Given the description of an element on the screen output the (x, y) to click on. 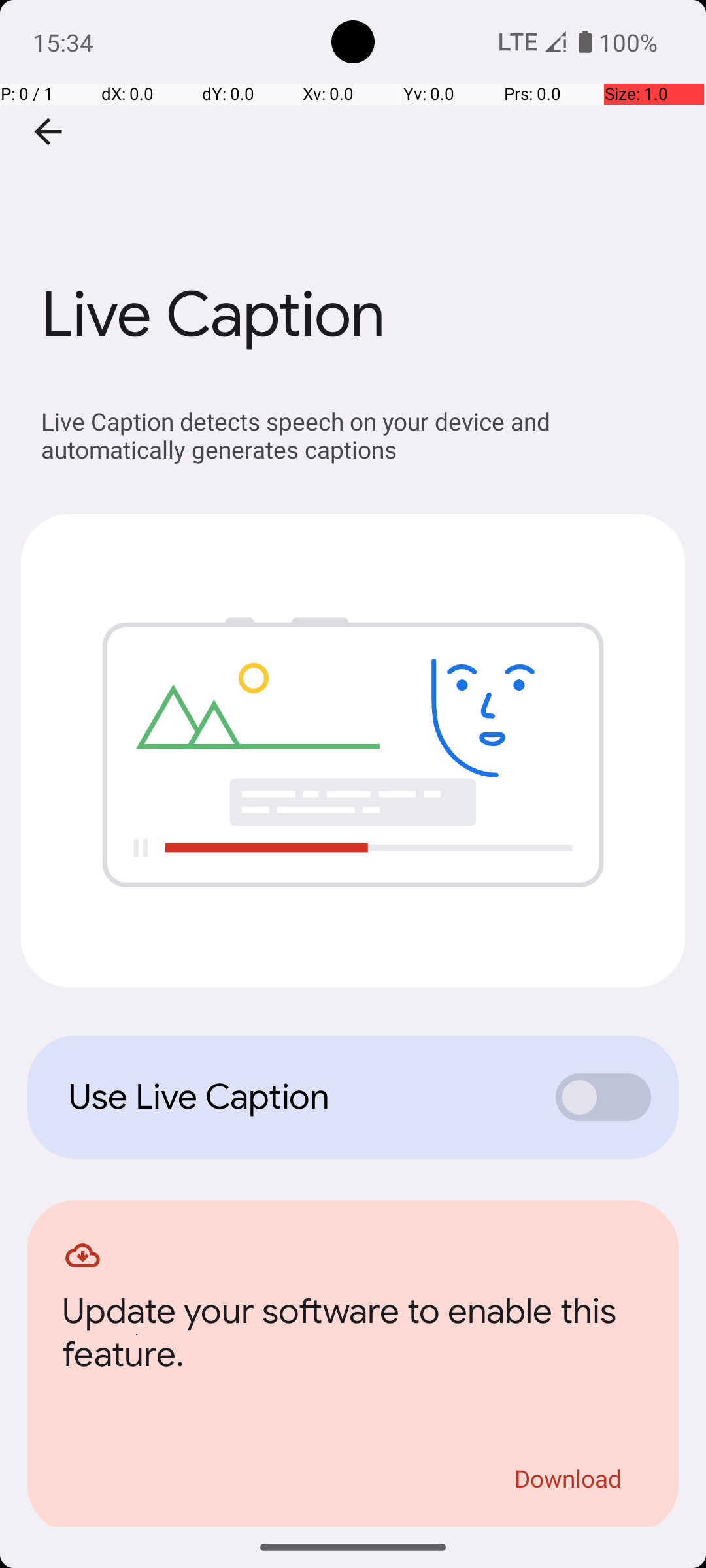
Live Caption detects speech on your device and automatically generates captions Element type: android.widget.TextView (359, 434)
Use Live Caption Element type: android.widget.TextView (298, 1096)
Update your software to enable this feature. Element type: android.widget.TextView (352, 1336)
